Given the description of an element on the screen output the (x, y) to click on. 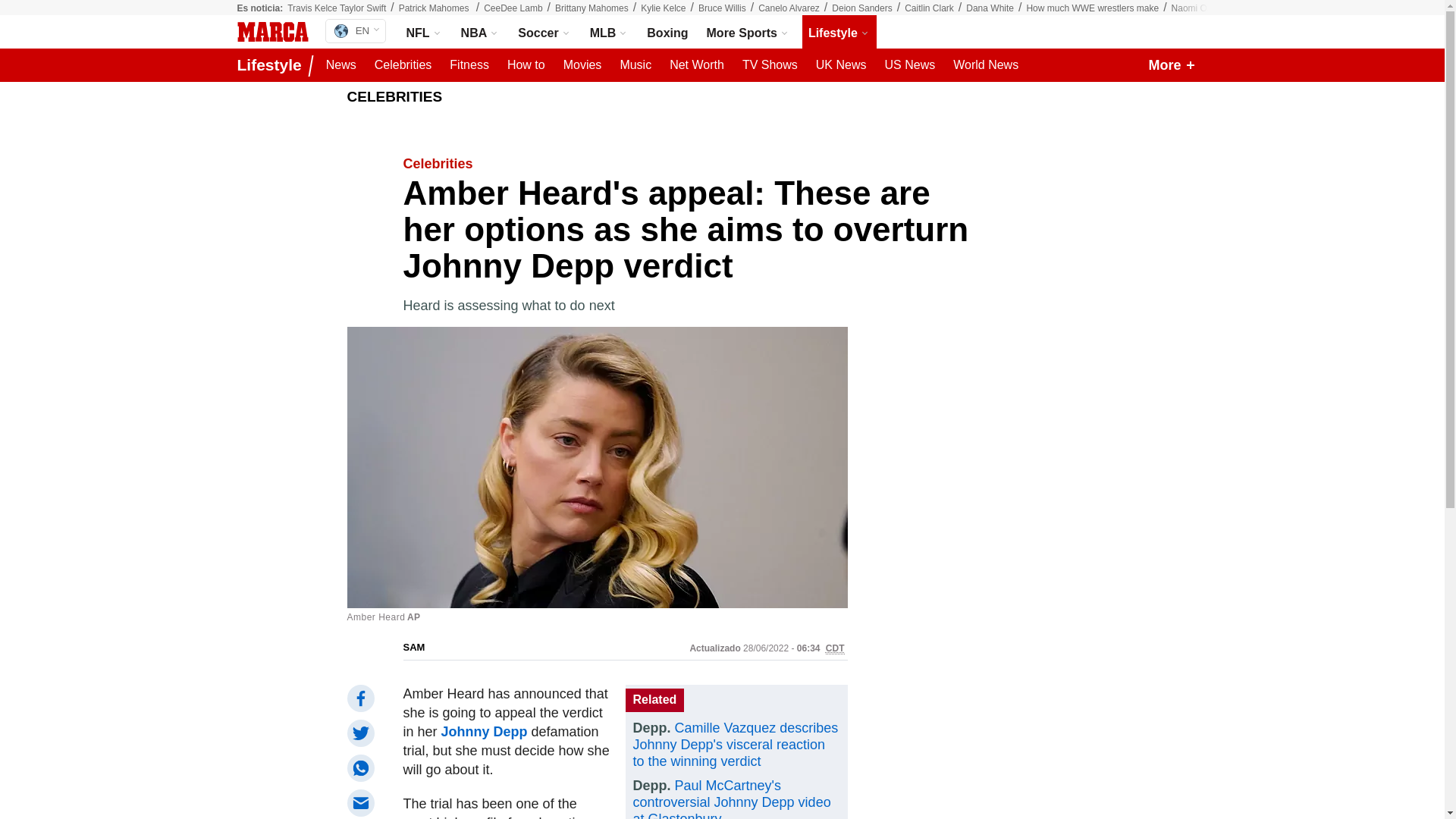
Net Worth (696, 64)
How much WWE wrestlers make (1092, 8)
More Sports (748, 31)
Dana White (989, 8)
News (341, 64)
Lifestyle (271, 64)
NFL (424, 31)
MLB (608, 31)
Soccer (544, 31)
NFL (424, 31)
